Given the description of an element on the screen output the (x, y) to click on. 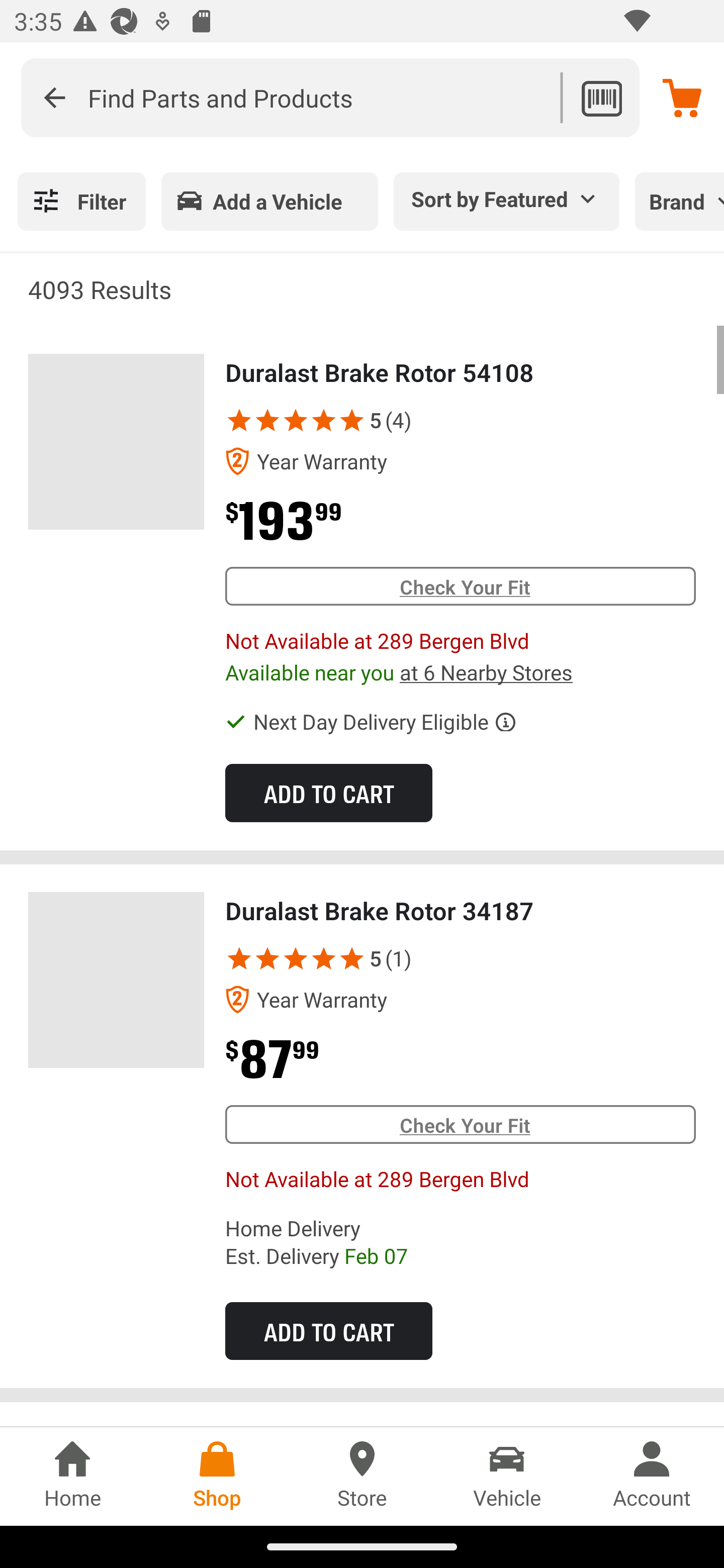
 scan-product-to-search  (601, 97)
 (54, 97)
Cart, no items  (681, 97)
Filter (81, 201)
 Add a Vehicle (269, 201)
Brand  (679, 201)
collapsed Sort by Featured  (506, 198)
Duralast Brake Rotor 54108 (116, 441)
 (239, 420)
 (267, 420)
 (295, 420)
 (323, 420)
 (352, 420)
Check your fit Check Your Fit (460, 586)
Add to cart ADD TO CART (328, 792)
Duralast Brake Rotor 34187 (116, 979)
 (239, 957)
 (267, 957)
 (295, 957)
 (323, 957)
 (352, 957)
Check your fit Check Your Fit (460, 1124)
Add to cart ADD TO CART (328, 1330)
Home (72, 1475)
Shop (216, 1475)
Store (361, 1475)
Vehicle (506, 1475)
Account (651, 1475)
